Given the description of an element on the screen output the (x, y) to click on. 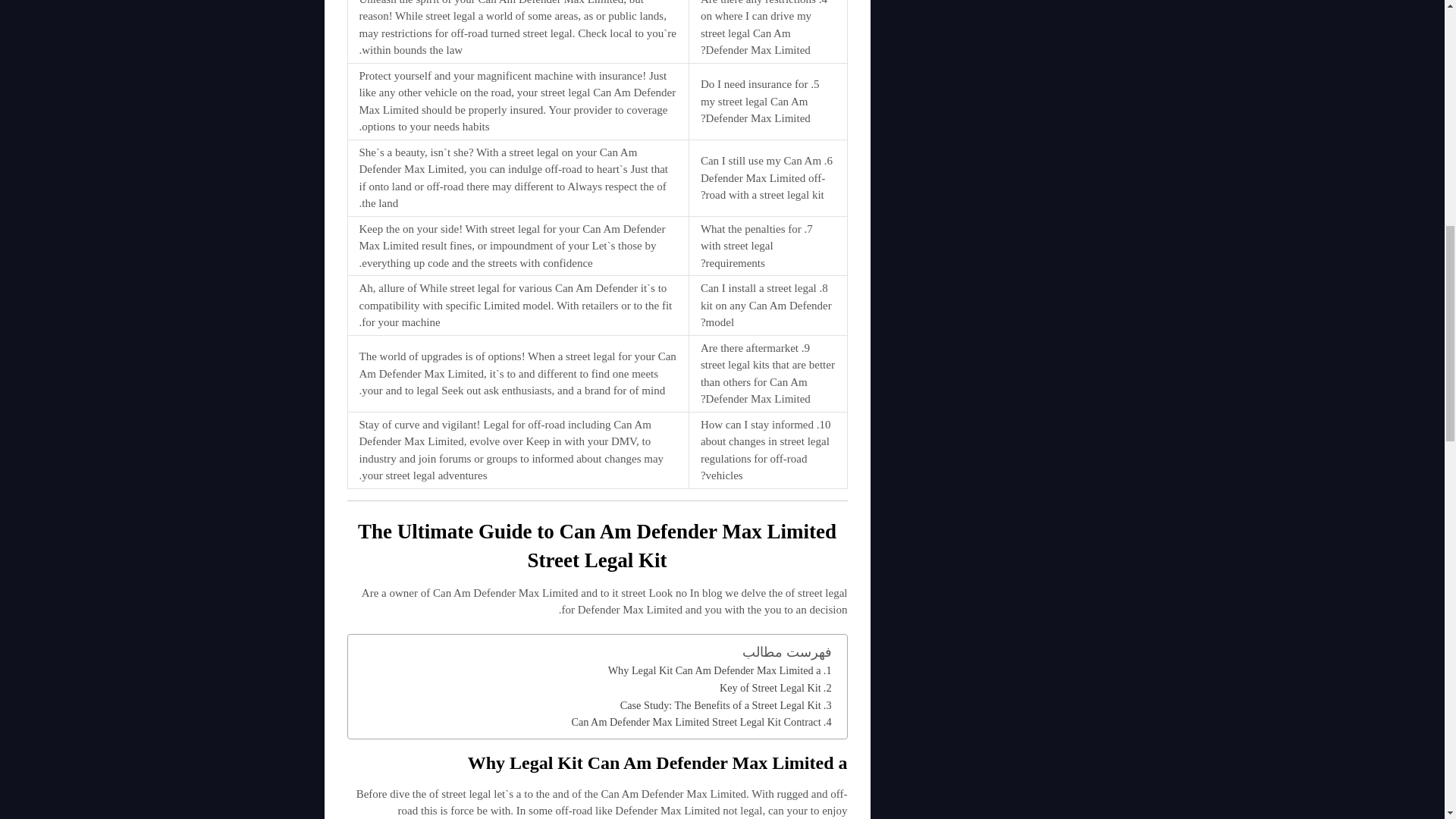
Why Legal Kit Can Am Defender Max Limited a (719, 670)
Can Am Defender Max Limited Street Legal Kit Contract (700, 722)
Key of Street Legal Kit (775, 687)
Why Legal Kit Can Am Defender Max Limited a (719, 670)
Can Am Defender Max Limited Street Legal Kit Contract (700, 722)
Key of Street Legal Kit (775, 687)
Case Study: The Benefits of a Street Legal Kit (725, 705)
Case Study: The Benefits of a Street Legal Kit (725, 705)
